Given the description of an element on the screen output the (x, y) to click on. 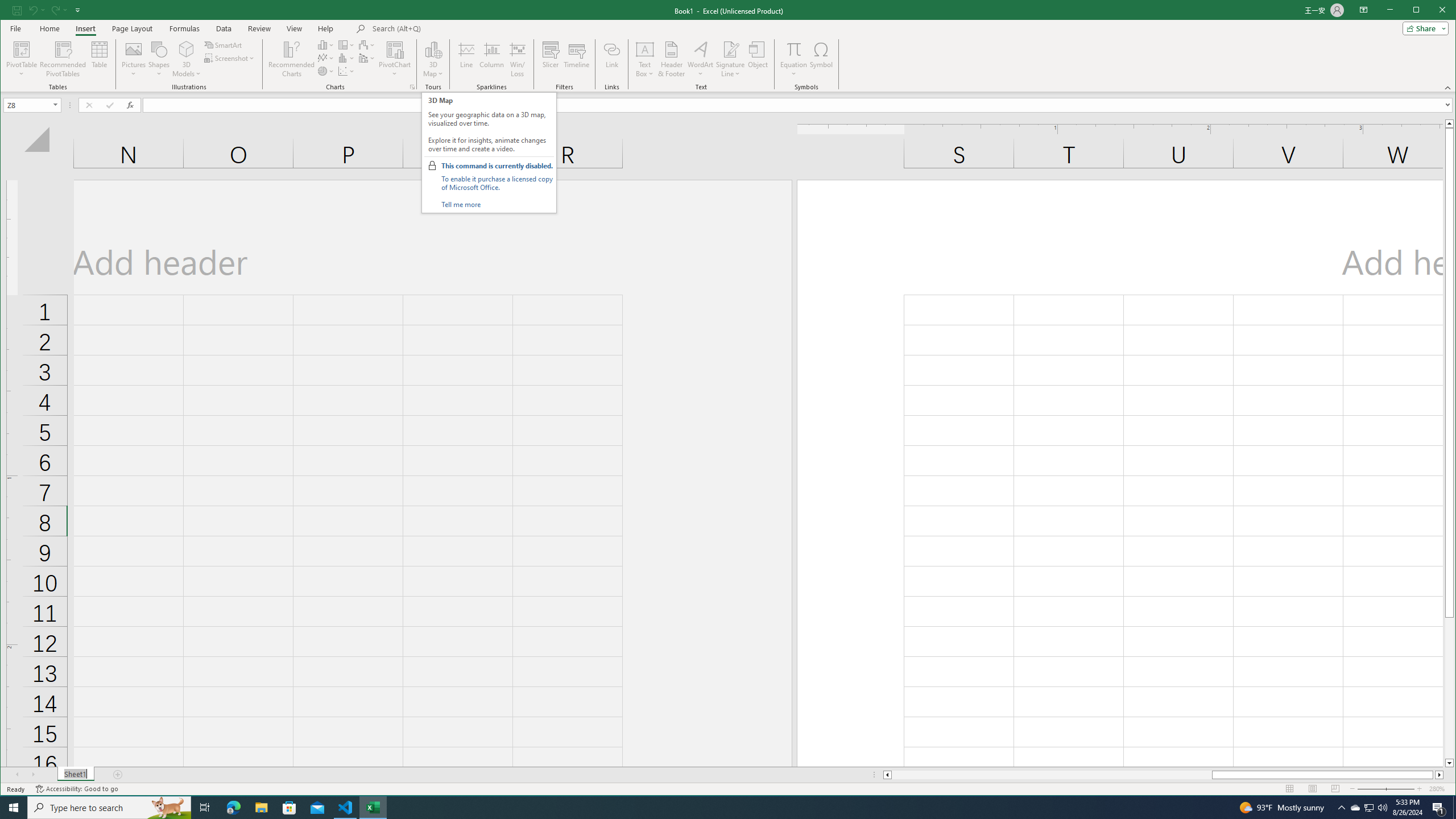
PivotChart (394, 48)
Header & Footer... (670, 59)
Object... (757, 59)
Page left (1051, 774)
Show desktop (1454, 807)
This command is currently disabled. (496, 165)
Pictures (133, 59)
Signature Line (729, 59)
Microsoft Edge (233, 807)
